Given the description of an element on the screen output the (x, y) to click on. 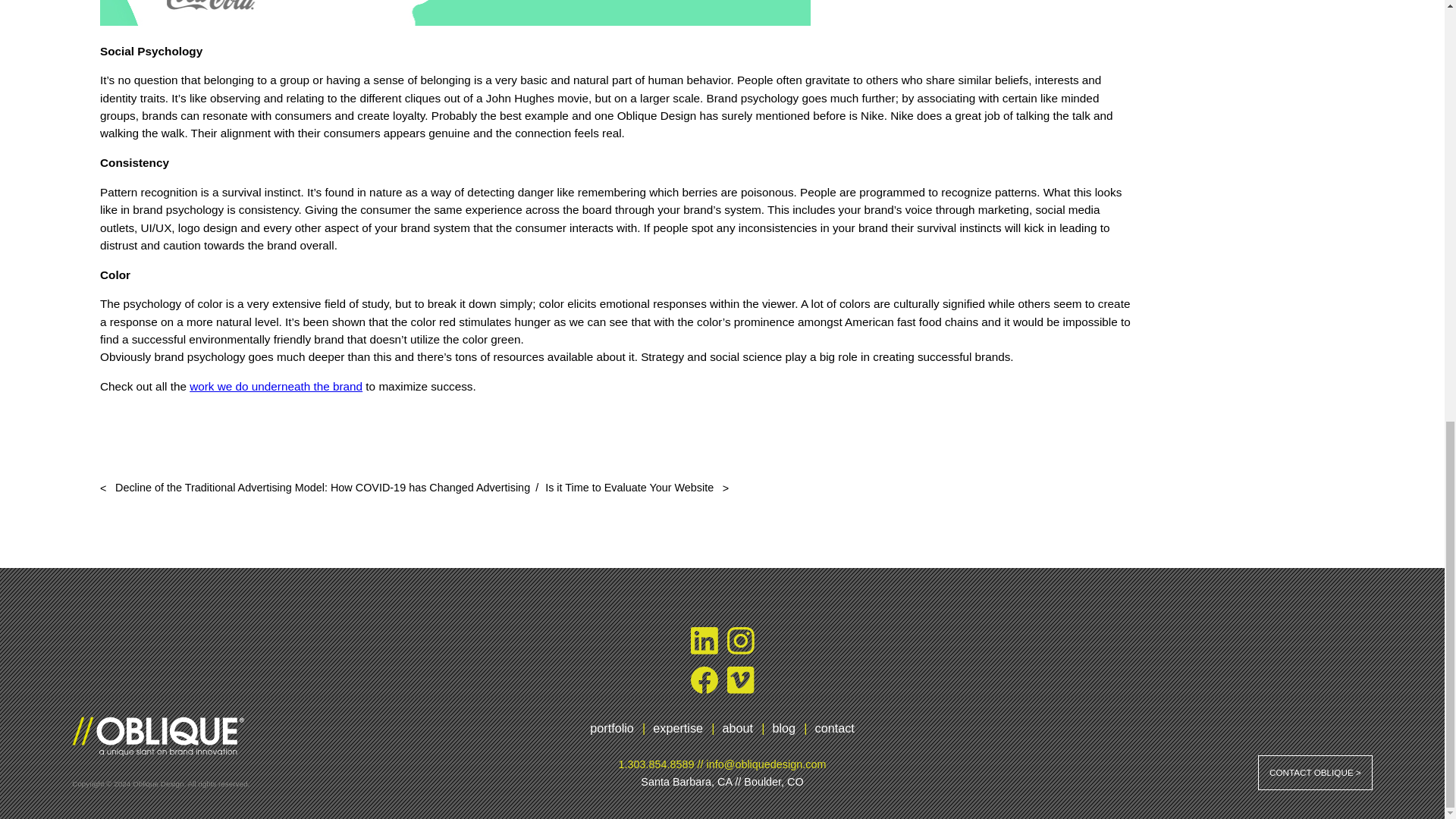
work we do underneath the brand (275, 386)
1.303.854.8589 (656, 763)
Is it Time to Evaluate Your Website (636, 487)
portfolio (611, 728)
